Given the description of an element on the screen output the (x, y) to click on. 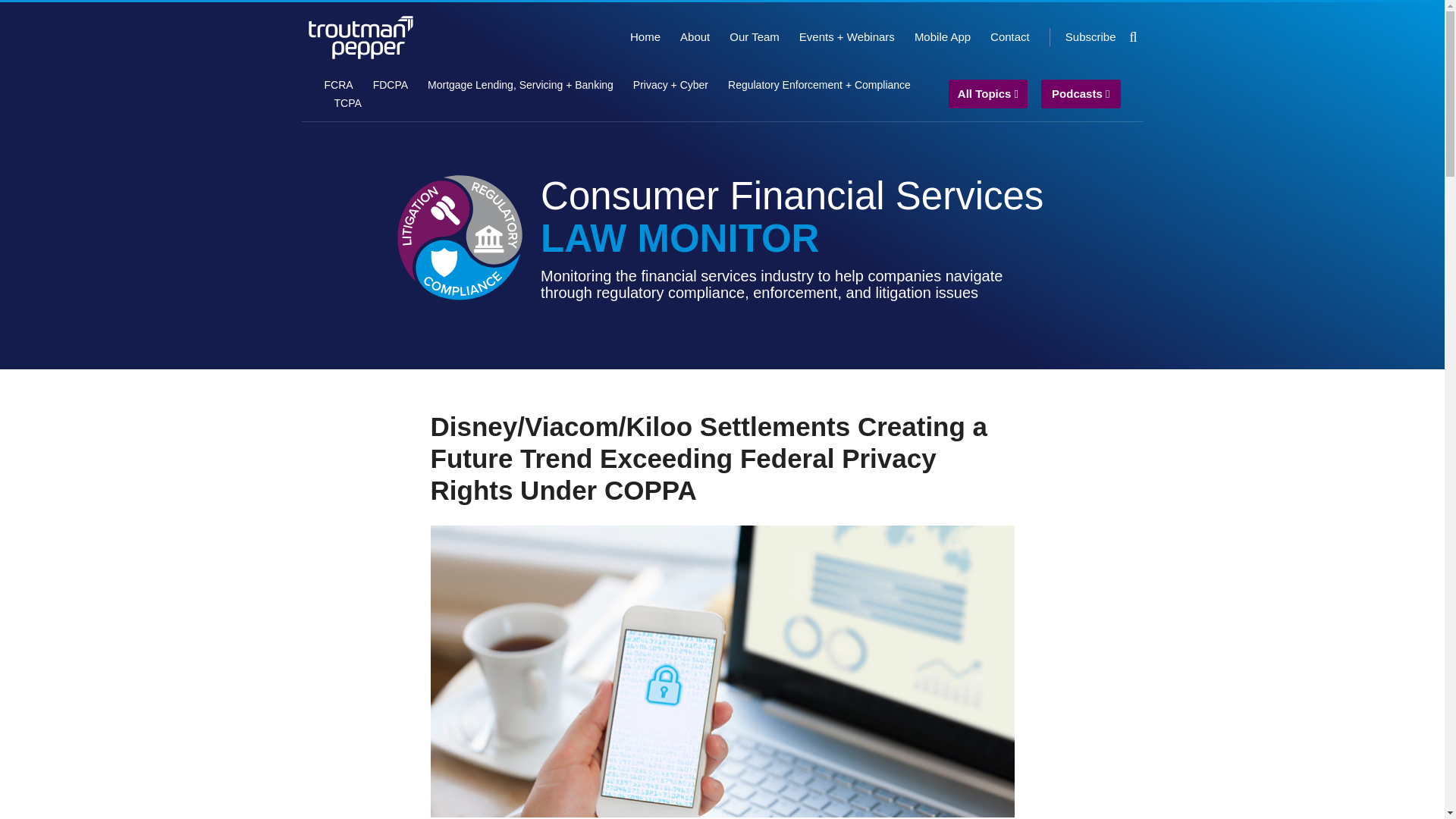
Podcasts (1081, 93)
About (694, 36)
Subscribe (1090, 36)
Contact (1009, 36)
Our Team (753, 36)
FDCPA (389, 85)
Consumer Financial Services LAW MONITOR (791, 217)
FCRA (338, 85)
Mobile App (942, 36)
Home (645, 36)
All Topics (988, 93)
TCPA (347, 103)
